Given the description of an element on the screen output the (x, y) to click on. 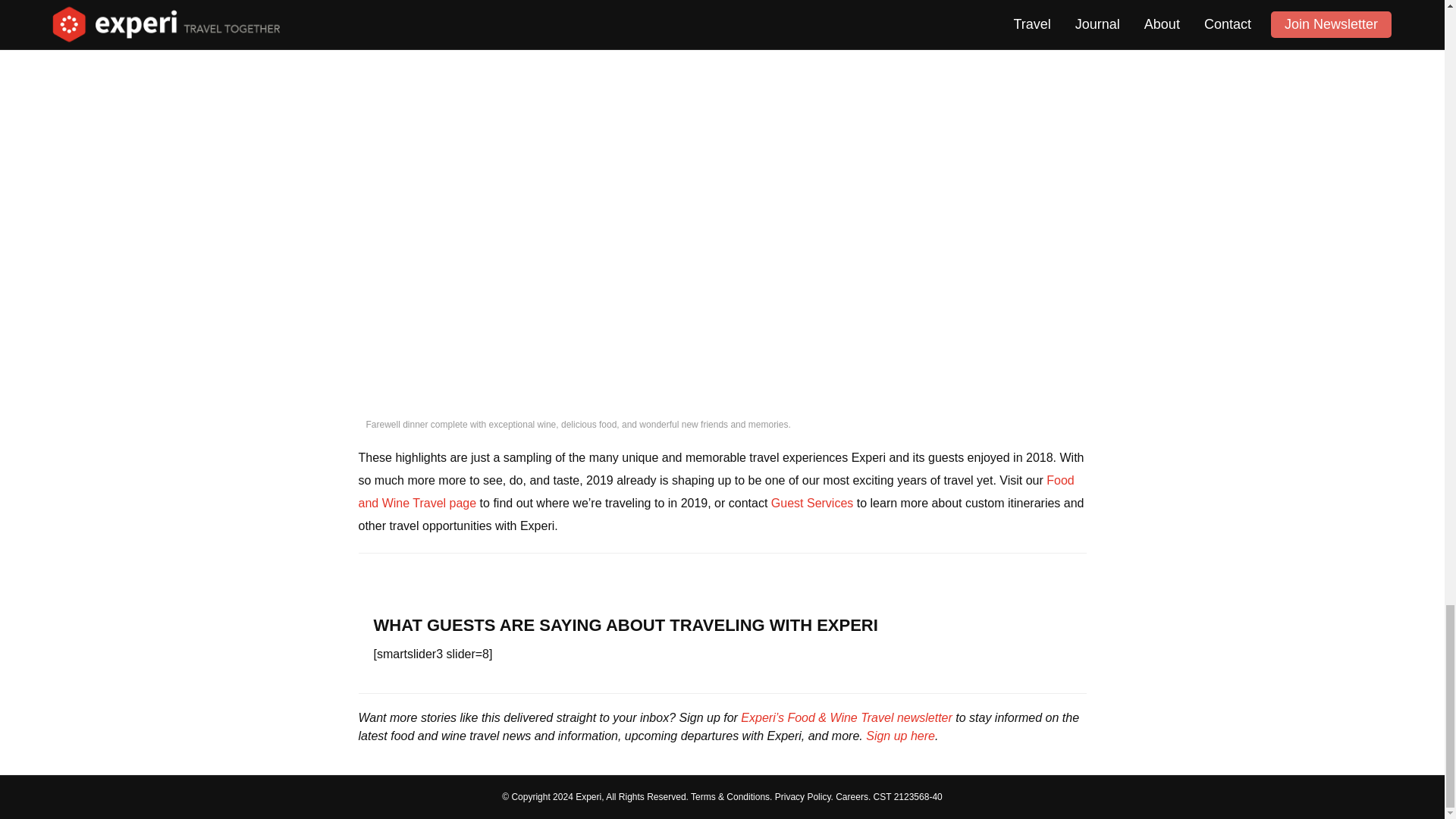
Careers (851, 796)
Guest Services (812, 502)
Experi (588, 796)
Food and Wine Travel page (716, 491)
Sign up here (900, 735)
Privacy Policy (802, 796)
